Given the description of an element on the screen output the (x, y) to click on. 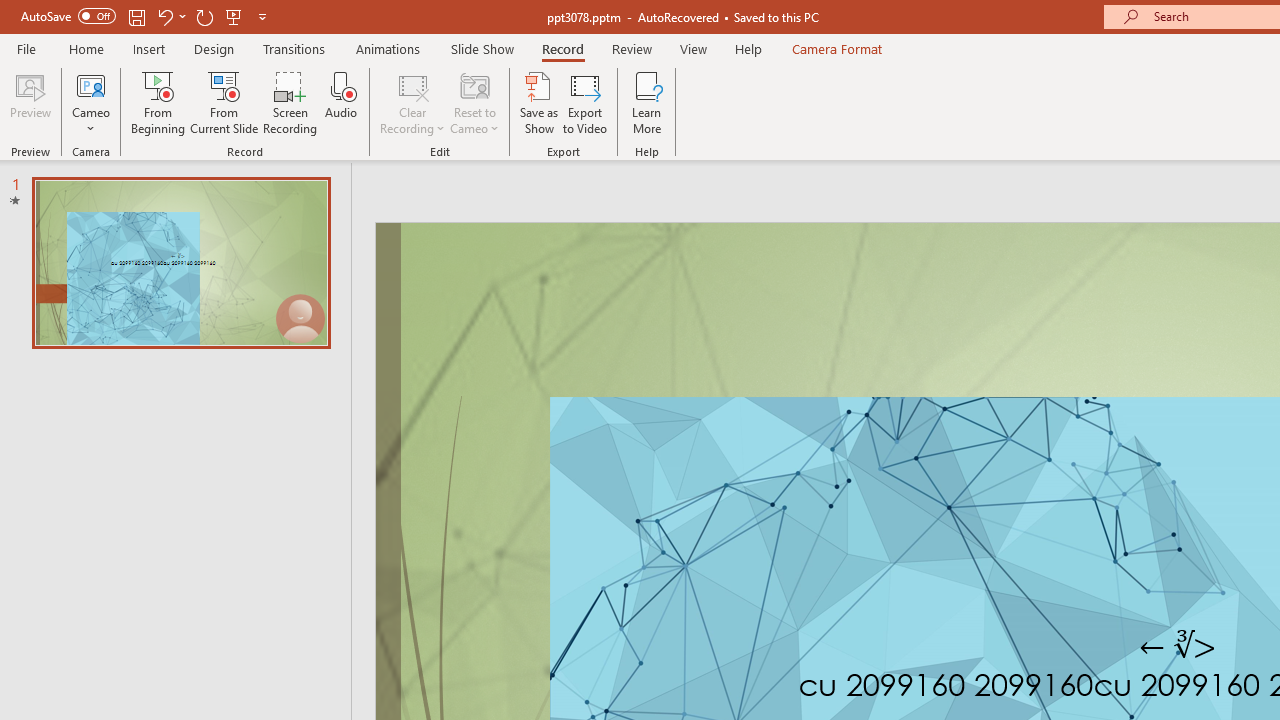
Clear Recording (412, 102)
Camera Format (836, 48)
TextBox 7 (1178, 646)
Reset to Cameo (474, 102)
From Current Slide... (224, 102)
